Given the description of an element on the screen output the (x, y) to click on. 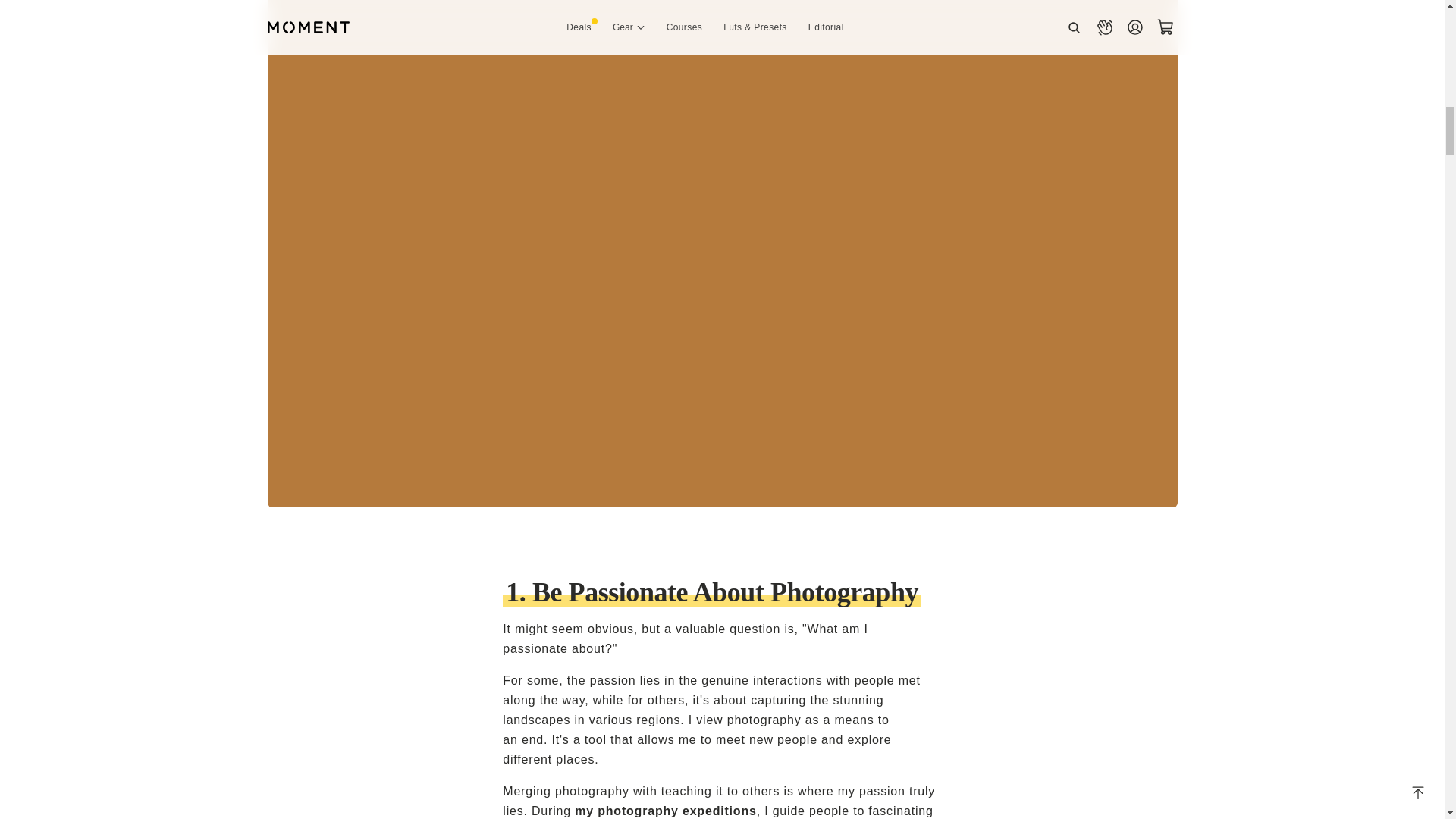
my photography expeditions (666, 810)
